Given the description of an element on the screen output the (x, y) to click on. 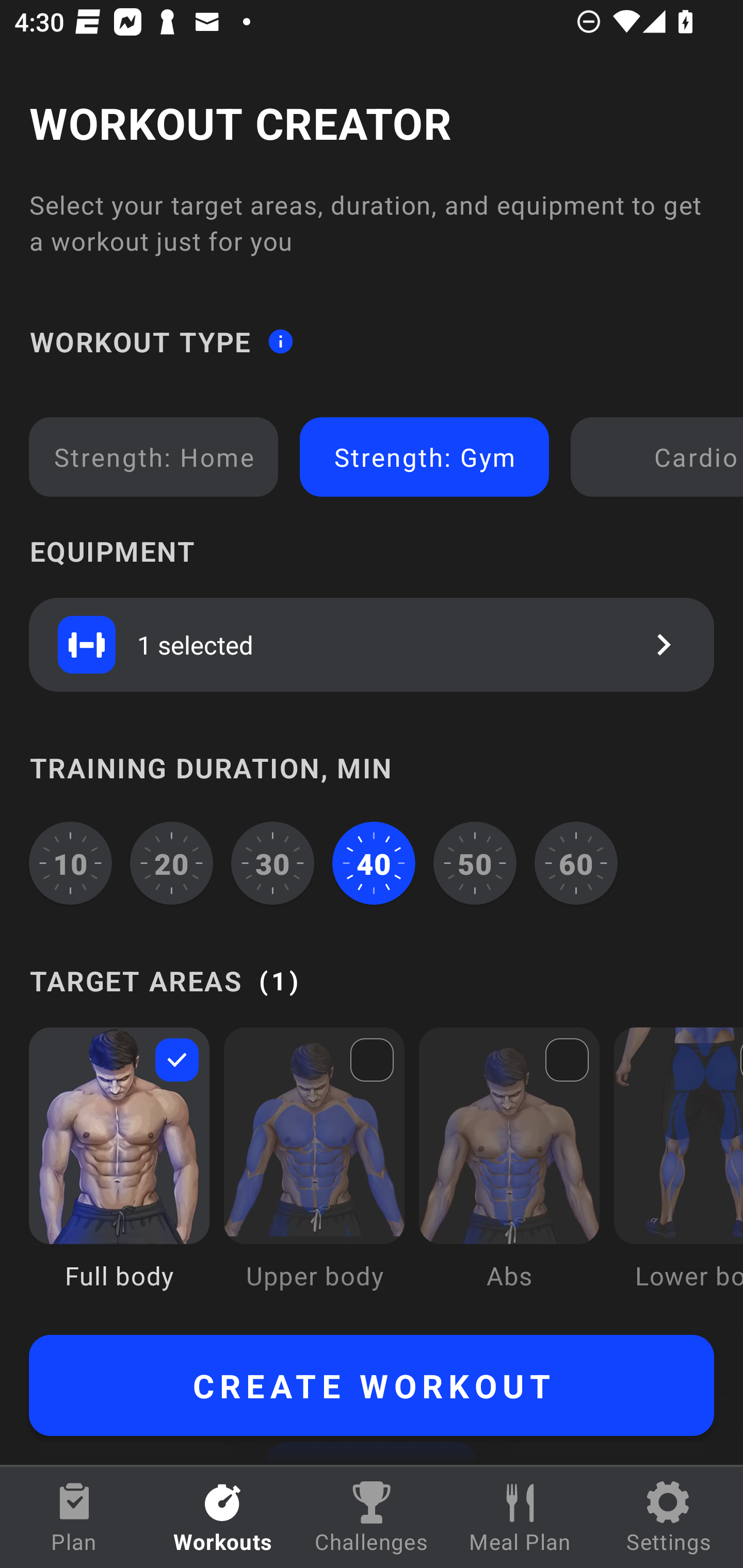
Workout type information button (280, 340)
Strength: Home (153, 457)
Cardio (660, 457)
1 selected (371, 644)
10 (70, 863)
20 (171, 863)
30 (272, 863)
40 (373, 863)
50 (474, 863)
60 (575, 863)
Upper body (313, 1172)
Abs (509, 1172)
Lower body (678, 1172)
CREATE WORKOUT (371, 1385)
 Plan  (74, 1517)
 Challenges  (371, 1517)
 Meal Plan  (519, 1517)
 Settings  (668, 1517)
